Given the description of an element on the screen output the (x, y) to click on. 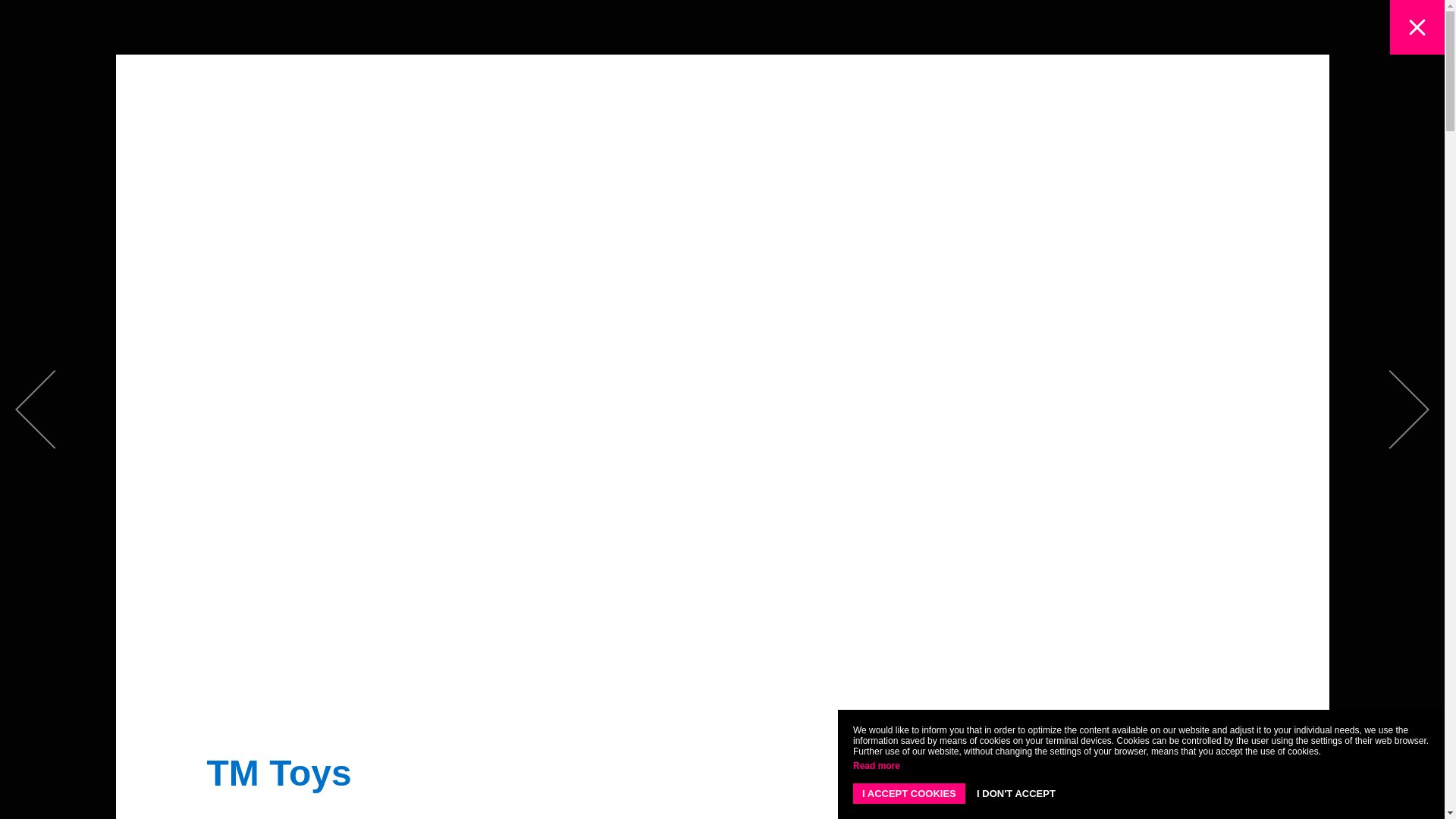
I ACCEPT COOKIES (909, 792)
I DON'T ACCEPT (1016, 792)
Read more (876, 765)
